Given the description of an element on the screen output the (x, y) to click on. 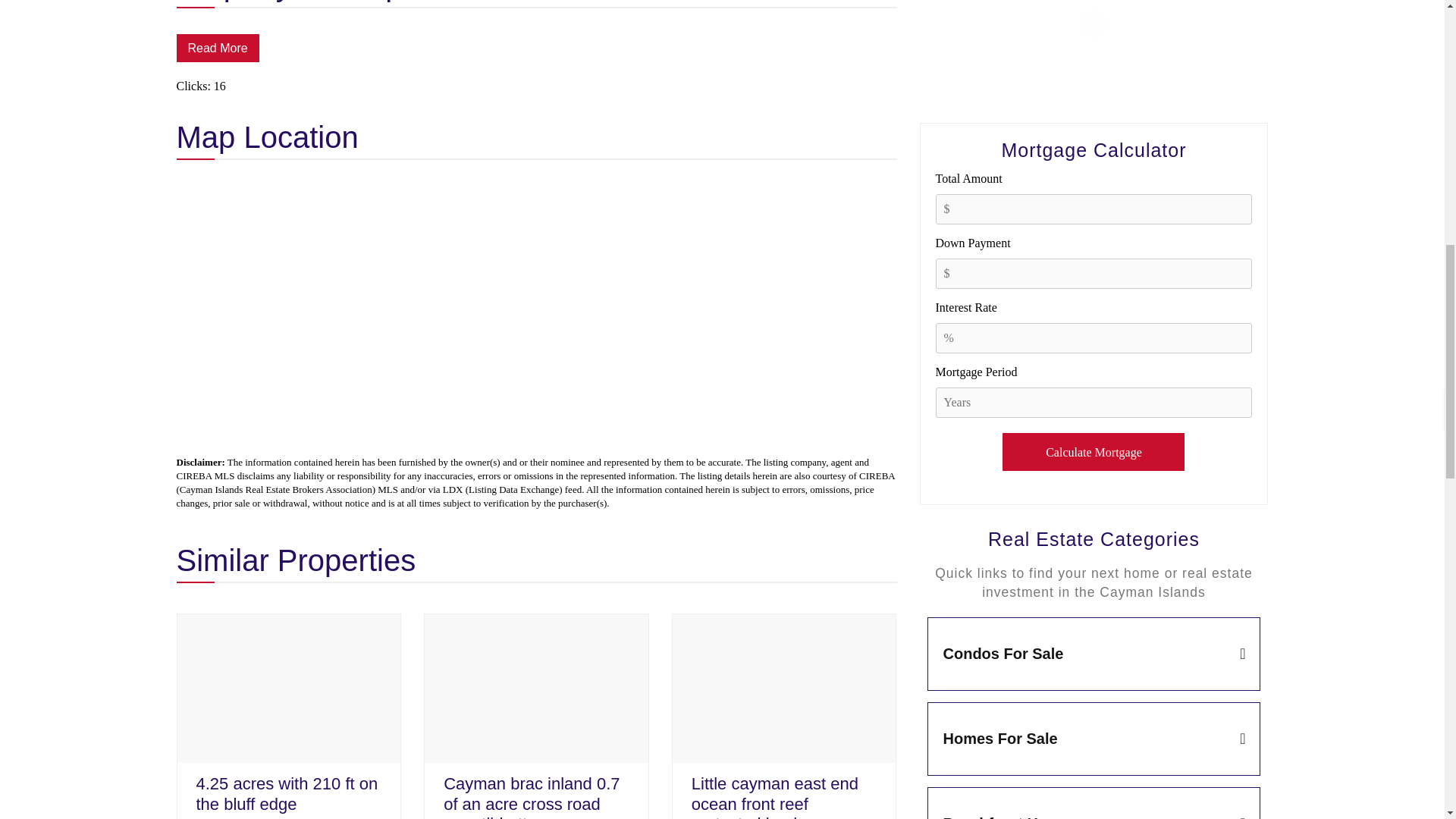
Calculate Mortgage (1094, 451)
4.25 acres with 210 ft on the bluff edge (289, 688)
